Given the description of an element on the screen output the (x, y) to click on. 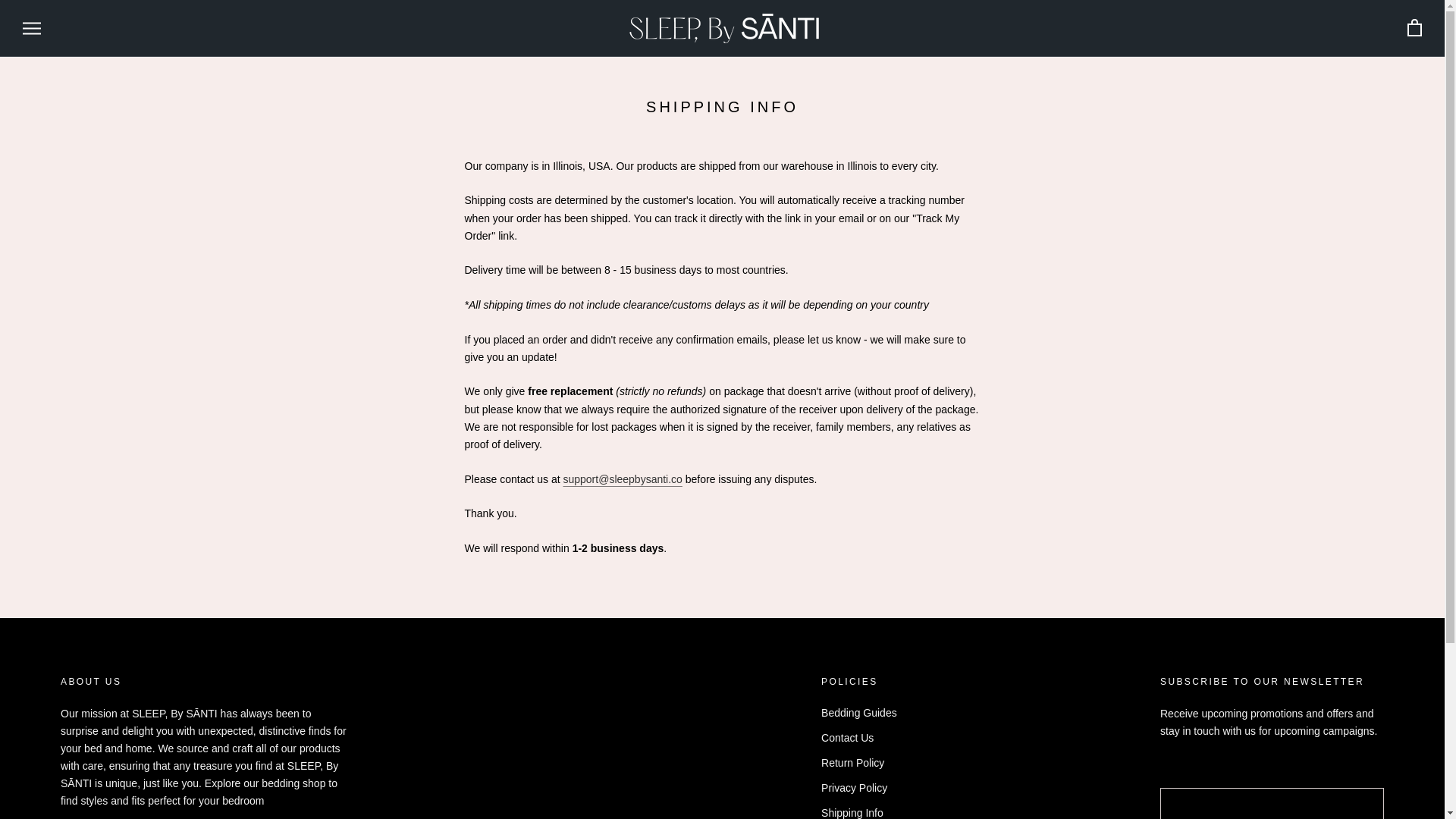
Contact Us (872, 738)
Bedding Guides (872, 713)
